Given the description of an element on the screen output the (x, y) to click on. 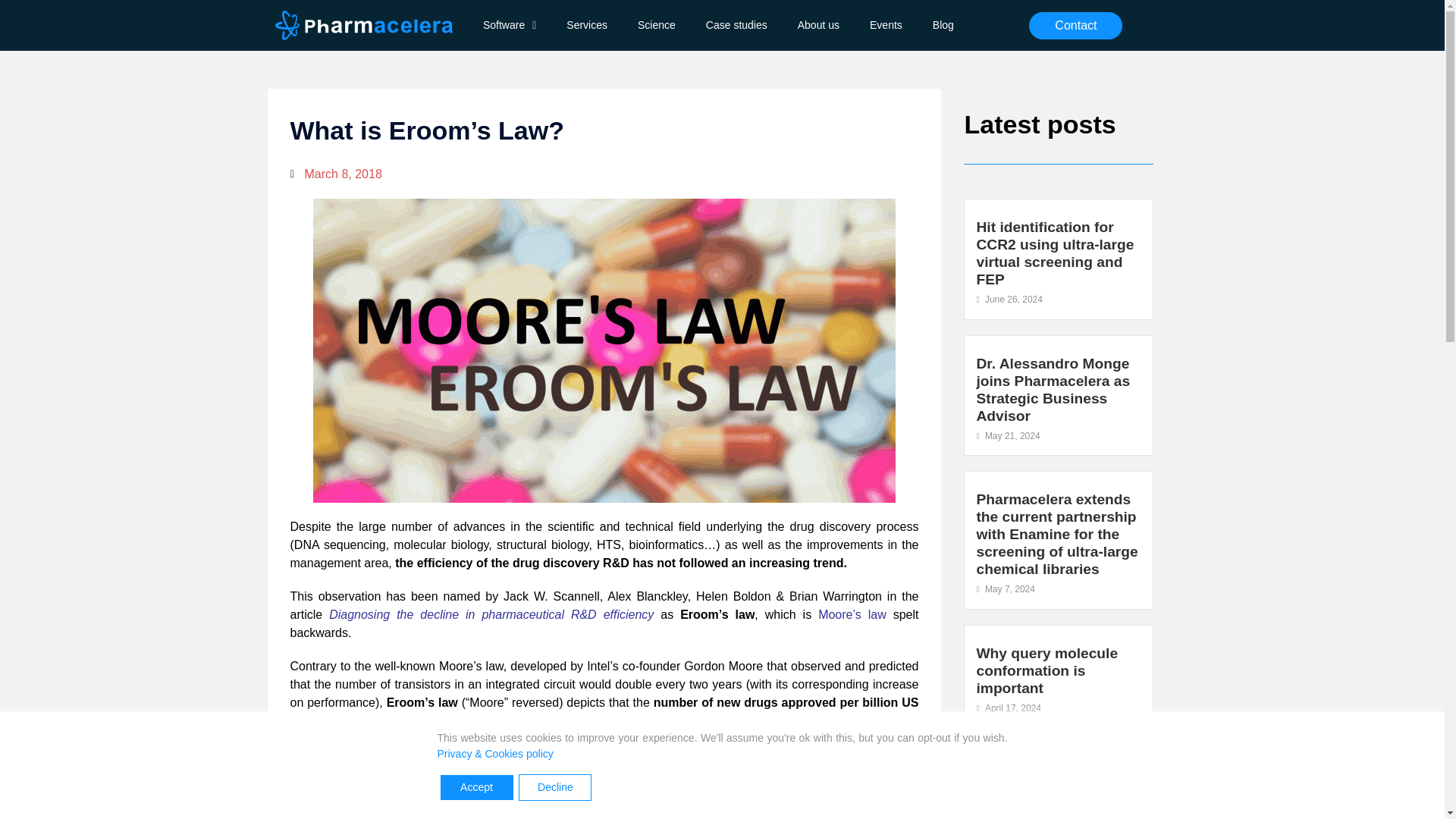
Contact (1075, 25)
Software (509, 25)
Services (587, 25)
March 8, 2018 (335, 174)
Access to Pharmacelera technologies (1023, 788)
About us (818, 25)
Science (656, 25)
Why query molecule conformation is important (1046, 670)
Events (885, 25)
